Given the description of an element on the screen output the (x, y) to click on. 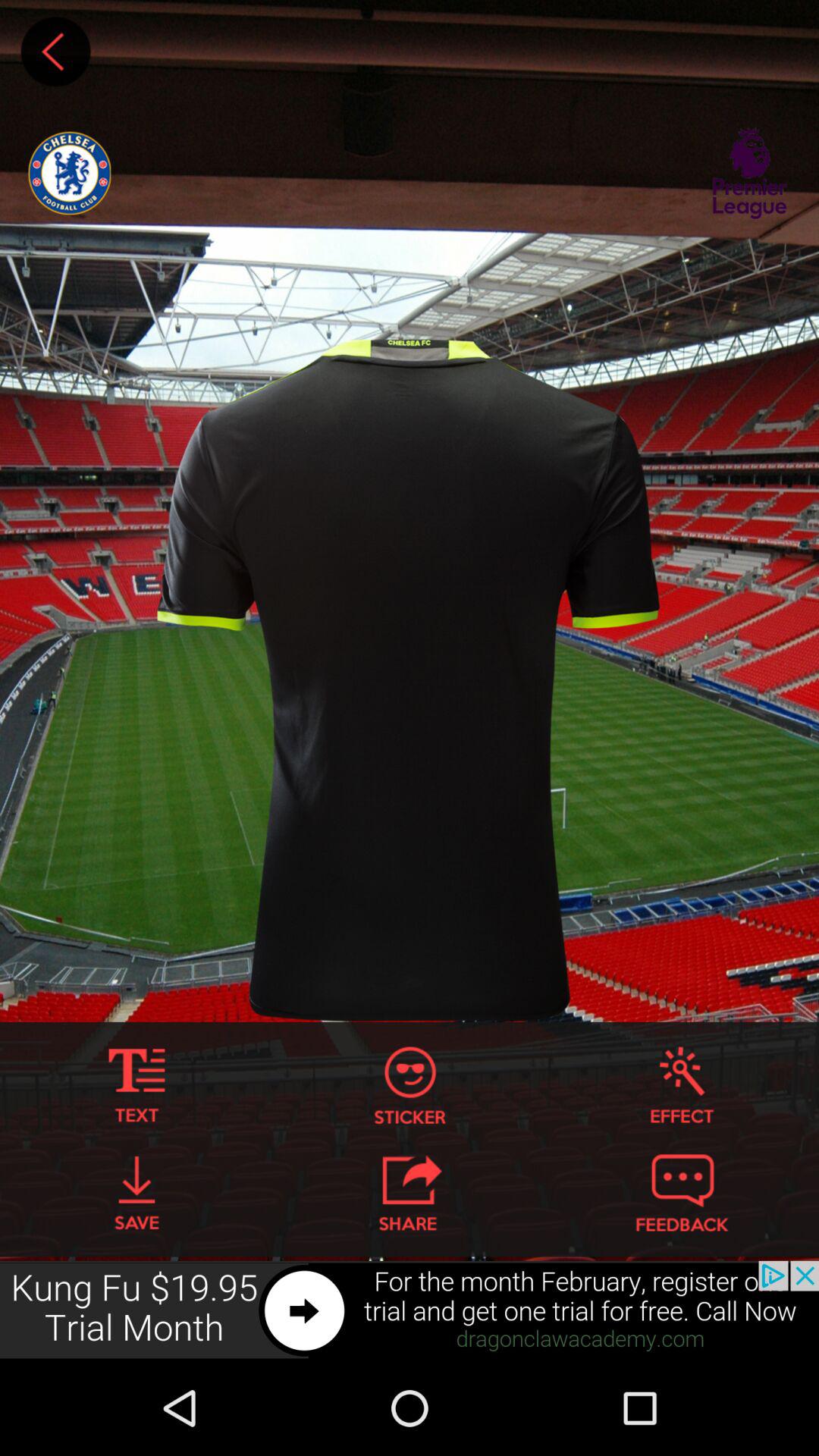
add sticker (409, 1085)
